Given the description of an element on the screen output the (x, y) to click on. 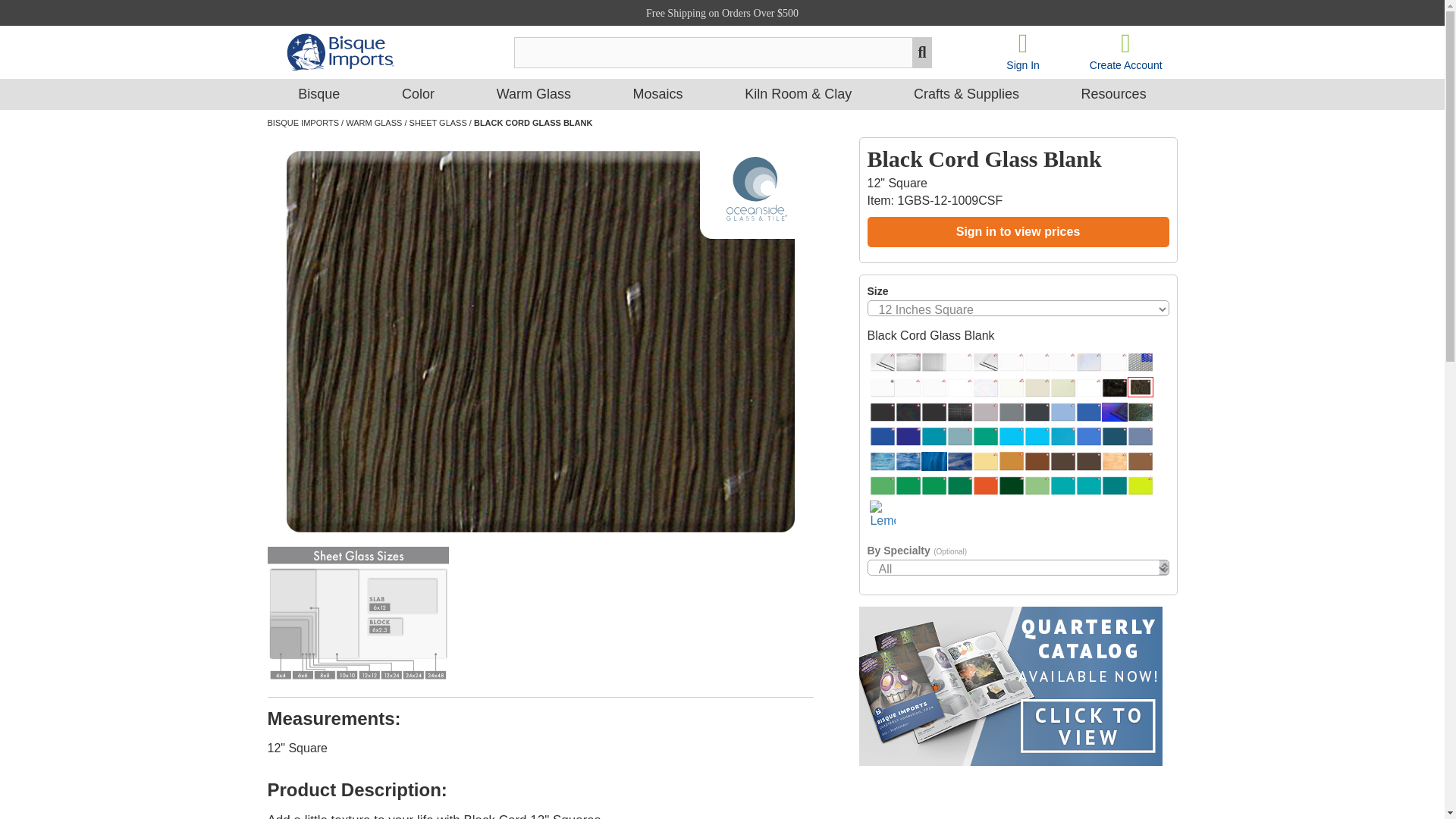
White Opal T-Glass - 12 in Sq. Single (1011, 387)
Ice Clear Sheet Glass - 12 In Sq. Single (1062, 361)
Ivory Opalescent Glass Blank (1037, 387)
Sign In (1022, 50)
White Iridescent Glass Blank (985, 387)
Clear Double Thick Glass Transparent Blank (985, 361)
Clear Transparent Sheet Glass - 12 In Sq. - Pack of 4 (908, 387)
Clear Quarter Reed Sheet Glass - 12 (934, 361)
Clear Sheet Glass - 12 In Sq. - Single (882, 387)
Radium Clear Glass Blank (1139, 361)
Clear Ice Transparent Fusible Range Glass Blank (1114, 361)
Clear Cord Textures Sheet Glass - 12 in sqs (908, 361)
Create Account (1125, 50)
Thin Clear Transparent Sheet Glass - 12 In Sq. - Single (959, 361)
White Opalescent Fusible Range Glass - Pack of 4 (1088, 387)
